Given the description of an element on the screen output the (x, y) to click on. 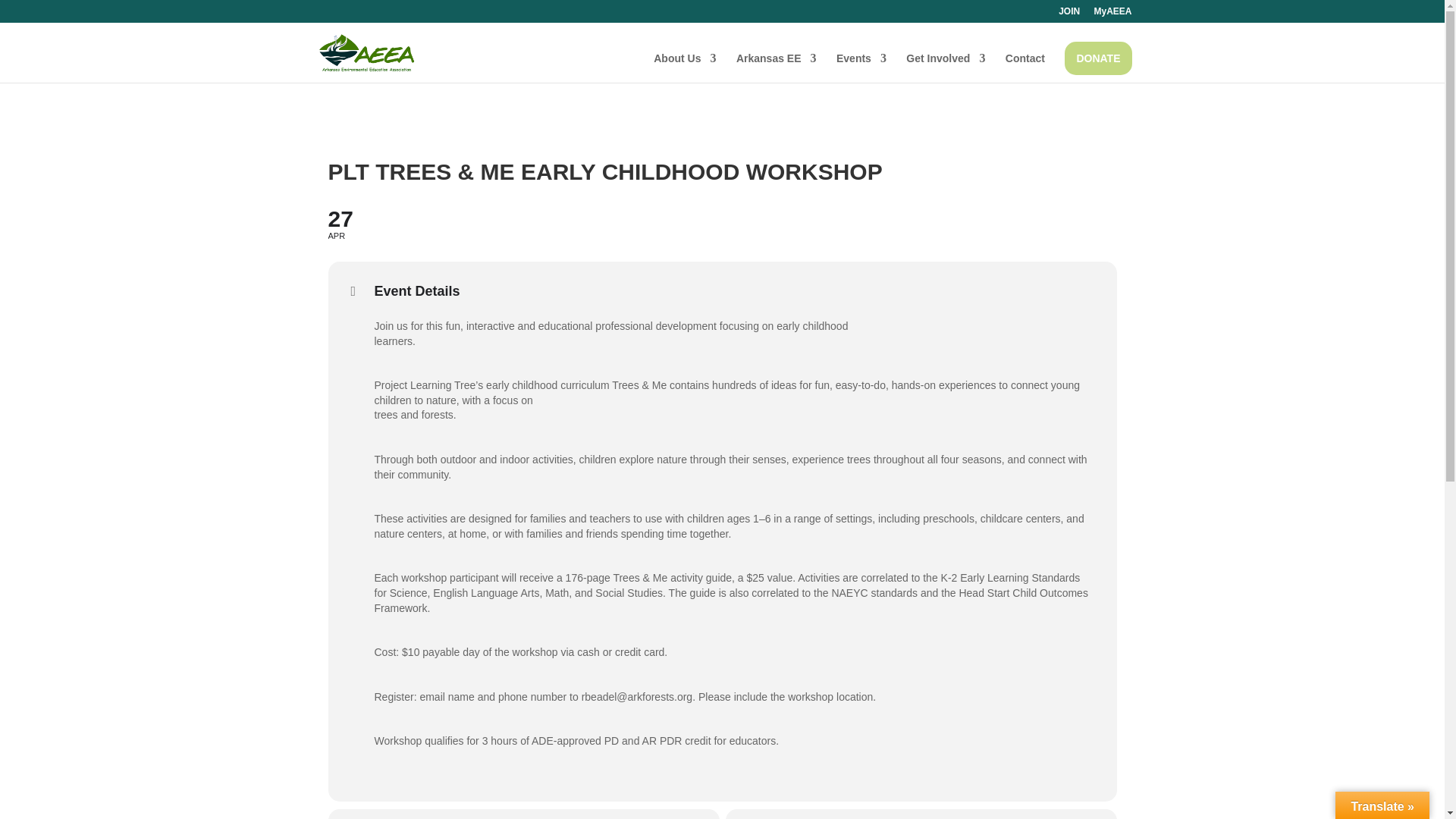
Get Involved (721, 222)
Events (945, 67)
Contact (860, 67)
MyAEEA (1025, 67)
About Us (1112, 14)
JOIN (684, 67)
DONATE (1069, 14)
Arkansas EE (1097, 58)
